Given the description of an element on the screen output the (x, y) to click on. 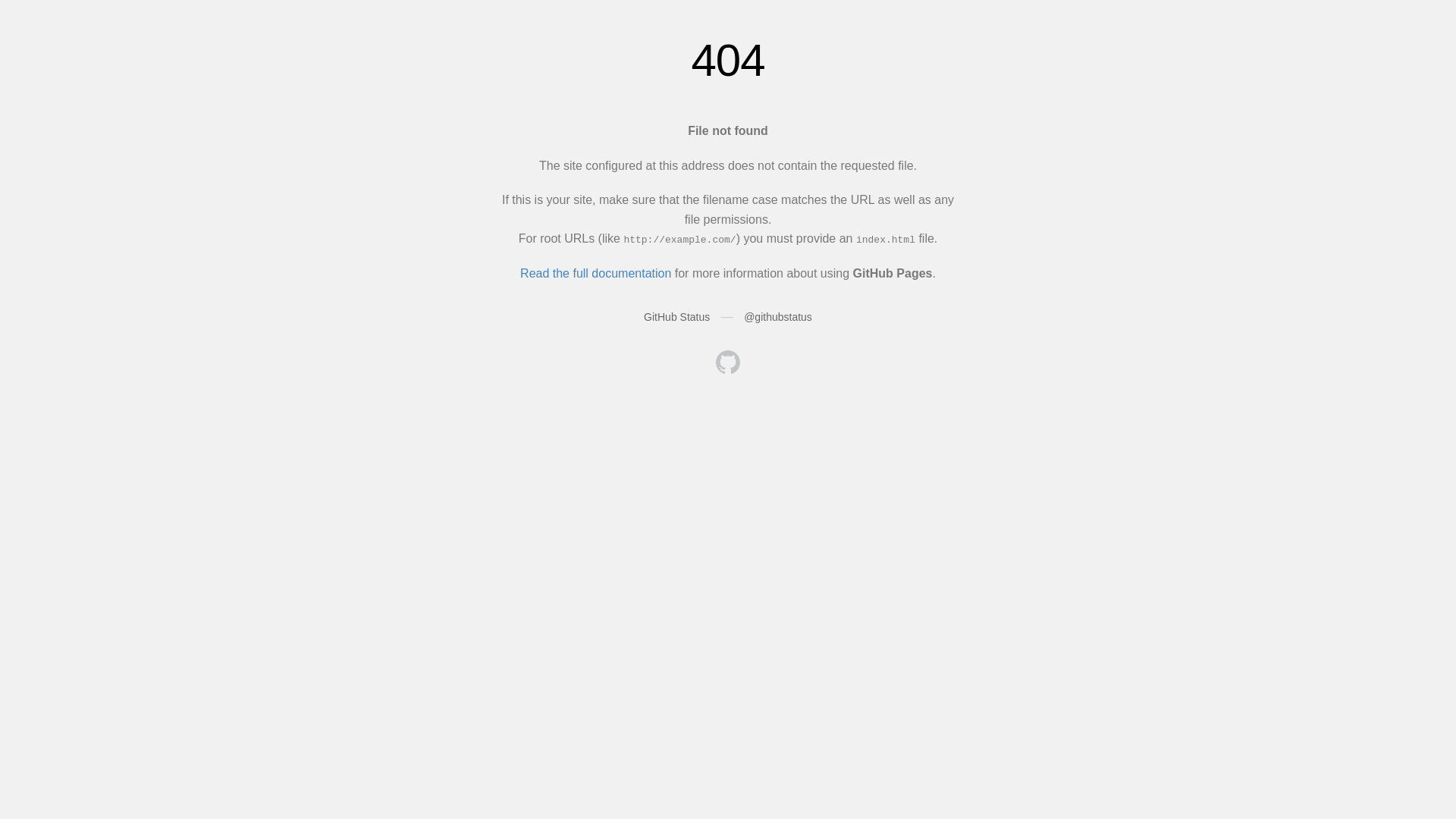
@githubstatus Element type: text (777, 316)
GitHub Status Element type: text (676, 316)
Read the full documentation Element type: text (595, 272)
